Given the description of an element on the screen output the (x, y) to click on. 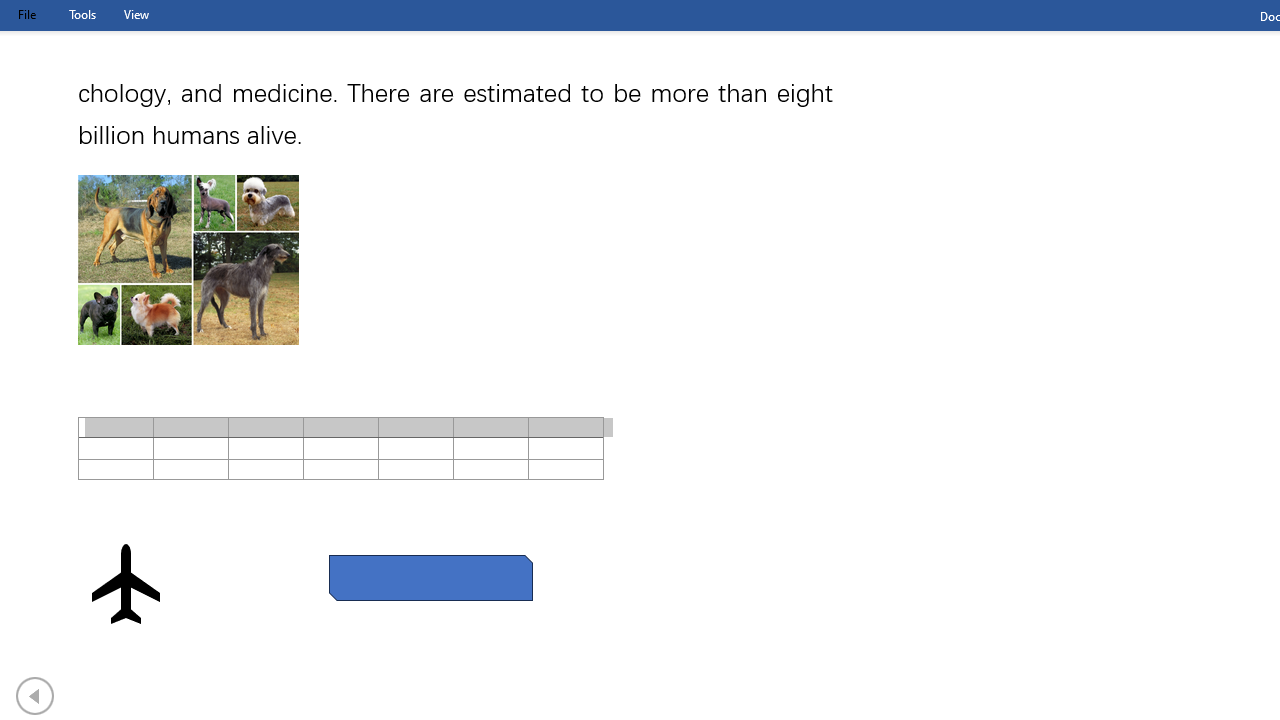
File Tab (26, 14)
Morphological variation in six dogs (188, 259)
View (136, 14)
Tools (82, 14)
Airplane with solid fill (126, 583)
Rectangle: Diagonal Corners Snipped 2 (430, 578)
